Given the description of an element on the screen output the (x, y) to click on. 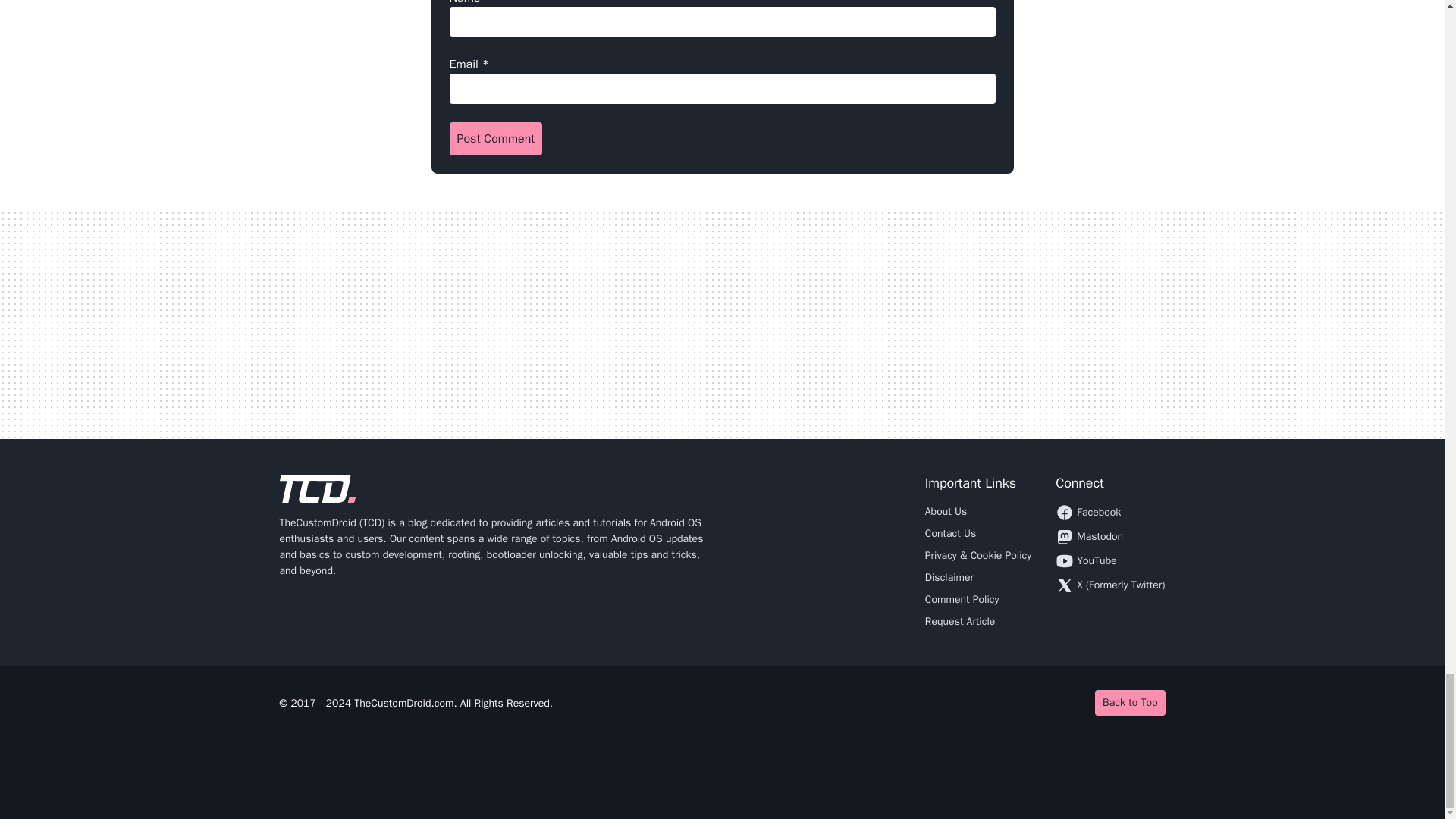
Contact Us (949, 533)
Post Comment (494, 138)
The Custom Droid logo (317, 488)
About Us (945, 511)
Post Comment (494, 138)
Disclaimer (949, 577)
The Custom Droid logo (317, 488)
